Given the description of an element on the screen output the (x, y) to click on. 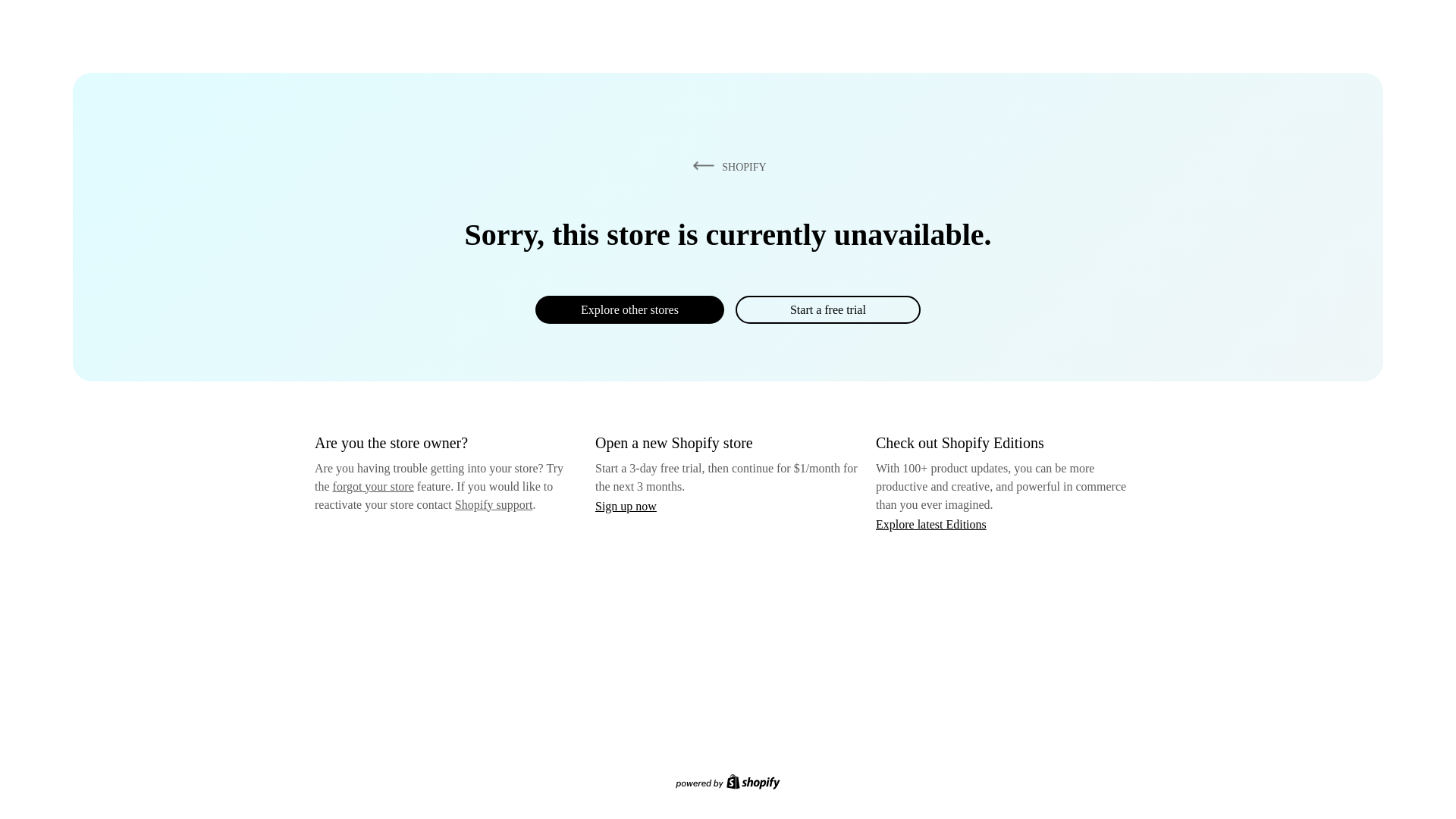
Explore latest Editions (931, 523)
Sign up now (625, 505)
Explore other stores (629, 309)
forgot your store (373, 486)
SHOPIFY (726, 166)
Start a free trial (827, 309)
Shopify support (493, 504)
